Given the description of an element on the screen output the (x, y) to click on. 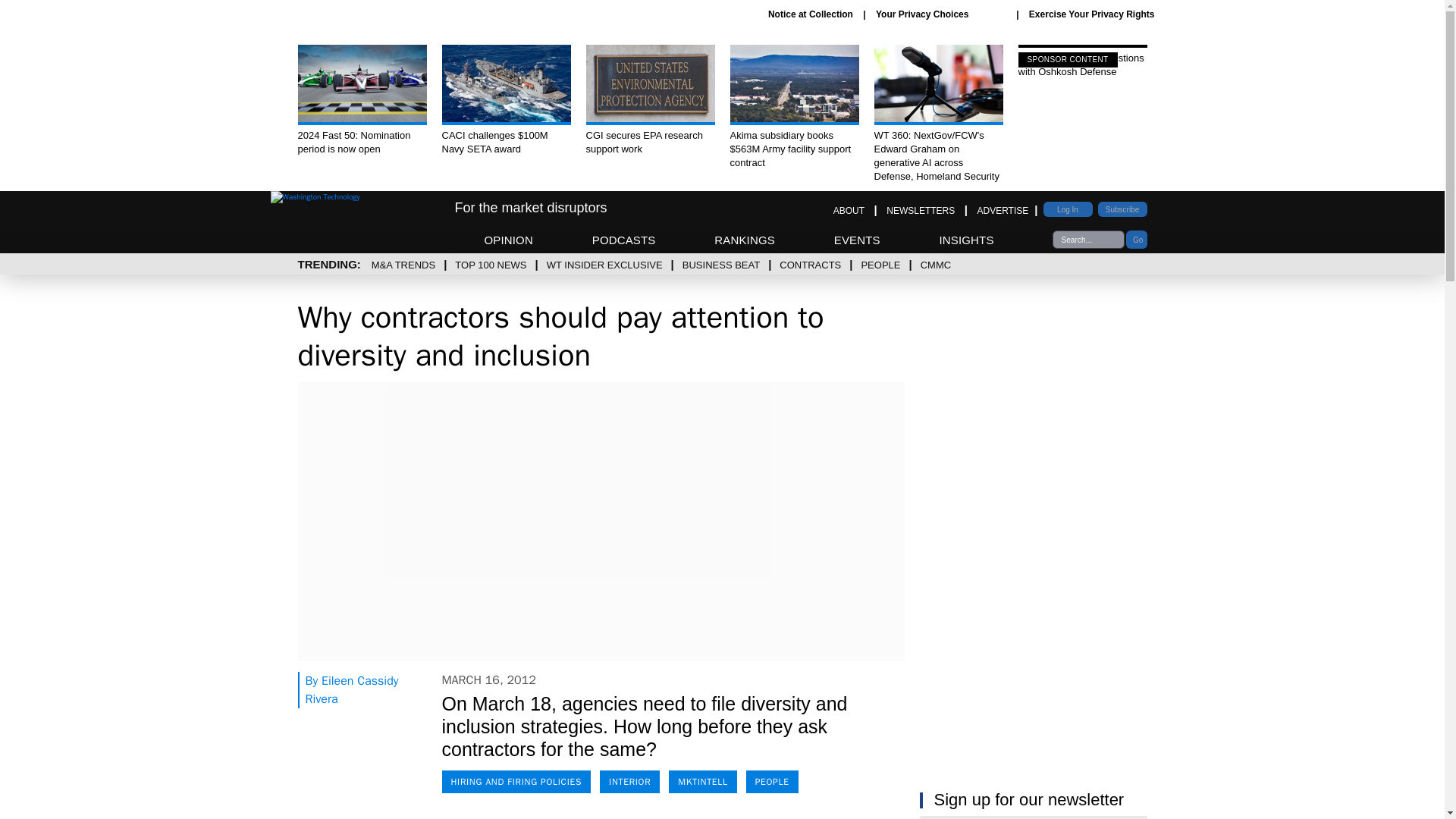
Go (1136, 239)
CGI secures EPA research support work (649, 100)
2024 Fast 50: Nomination period is now open (361, 100)
ABOUT (848, 210)
OPINION (507, 239)
INSIGHTS (966, 239)
RANKINGS (744, 239)
PODCASTS (624, 239)
NEWSLETTERS (920, 210)
EVENTS (857, 239)
Notice at Collection (810, 14)
ADVERTISE (1001, 210)
Exercise Your Privacy Rights (1091, 14)
